Given the description of an element on the screen output the (x, y) to click on. 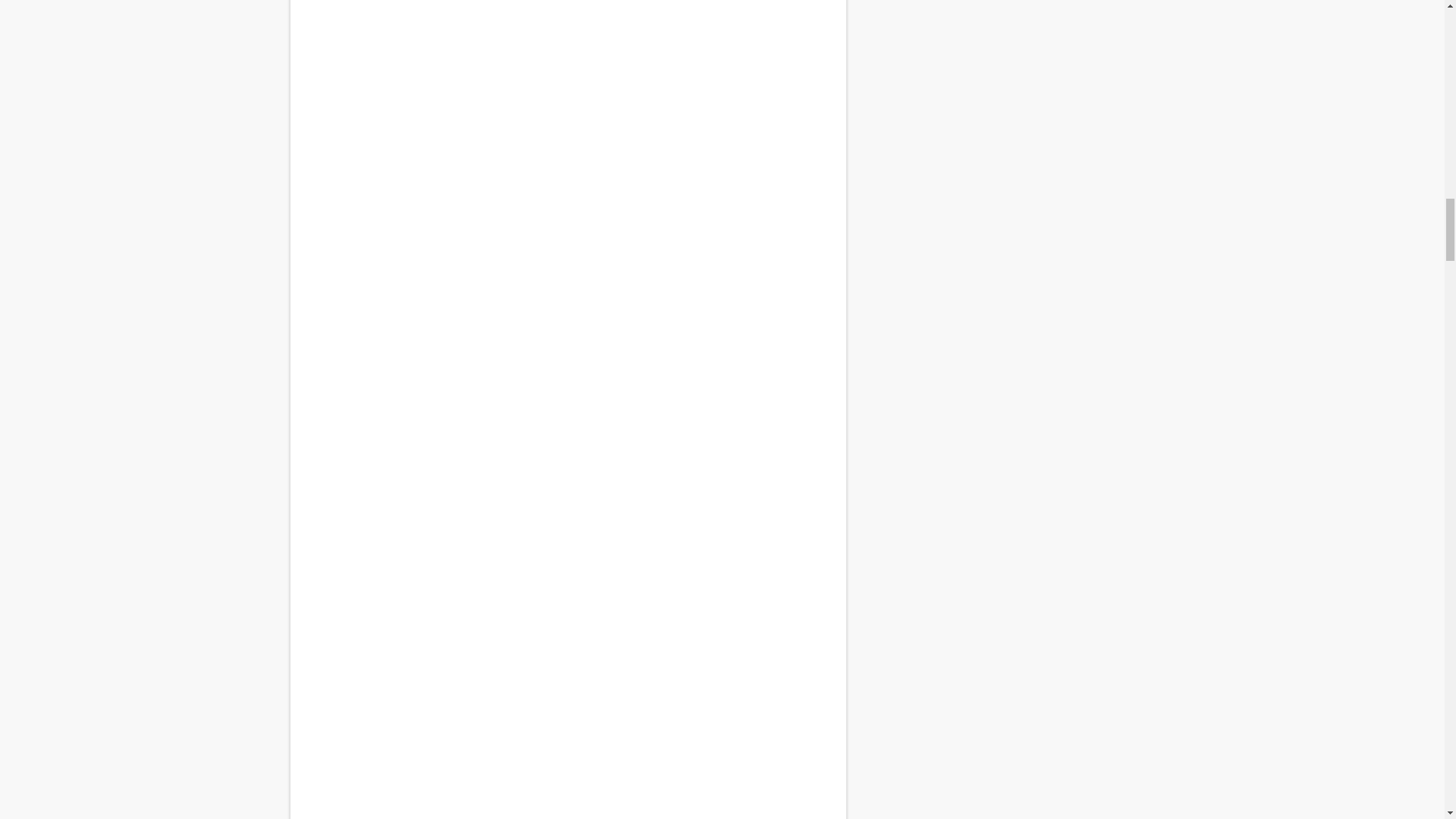
Commonly confused words (567, 537)
